Given the description of an element on the screen output the (x, y) to click on. 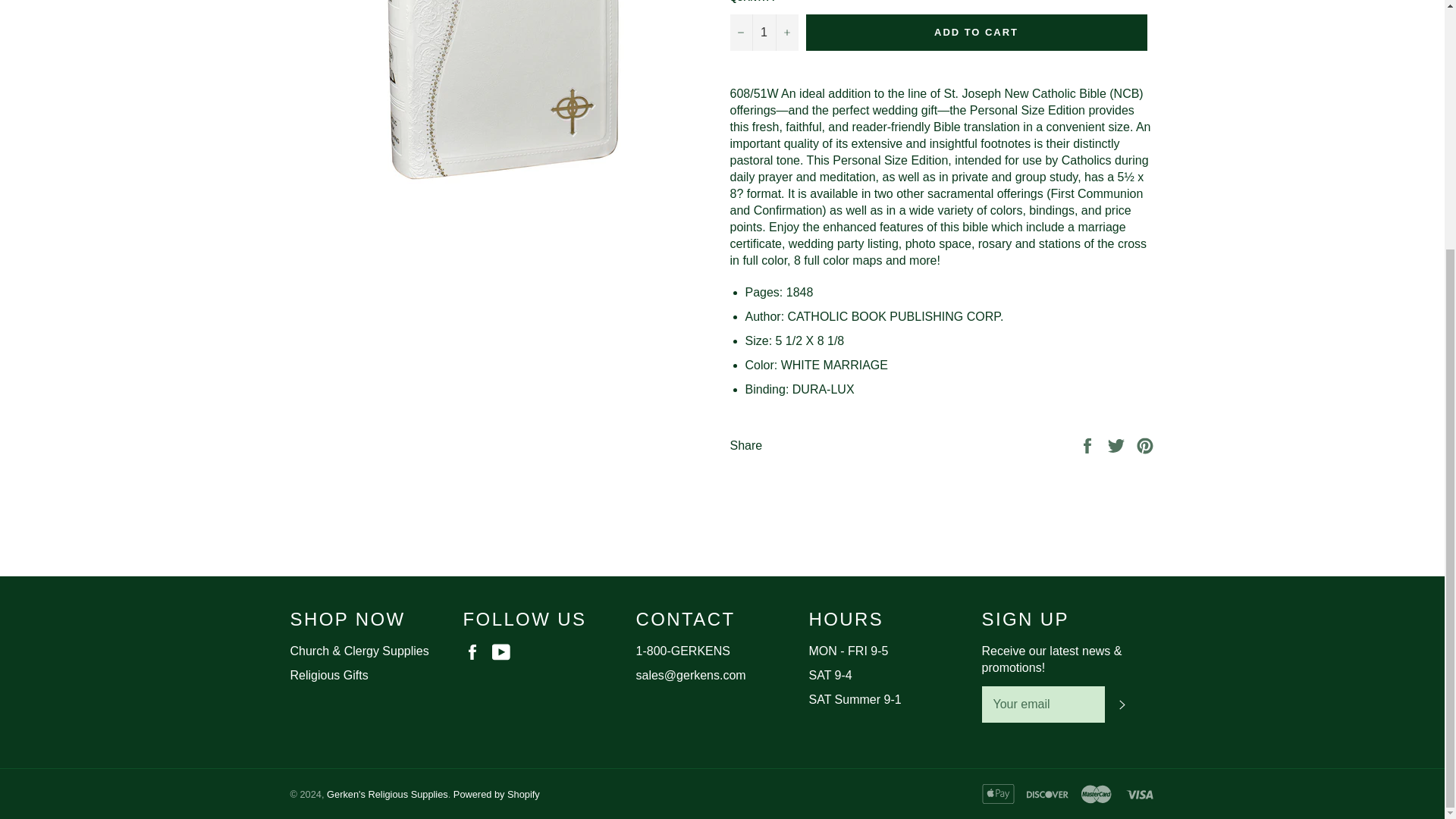
Pin on Pinterest (1144, 444)
Tweet on Twitter (1117, 444)
1 (763, 32)
Gerken's Religious Supplies on Facebook (475, 651)
Gerken's Religious Supplies on YouTube (505, 651)
Share on Facebook (1088, 444)
